Given the description of an element on the screen output the (x, y) to click on. 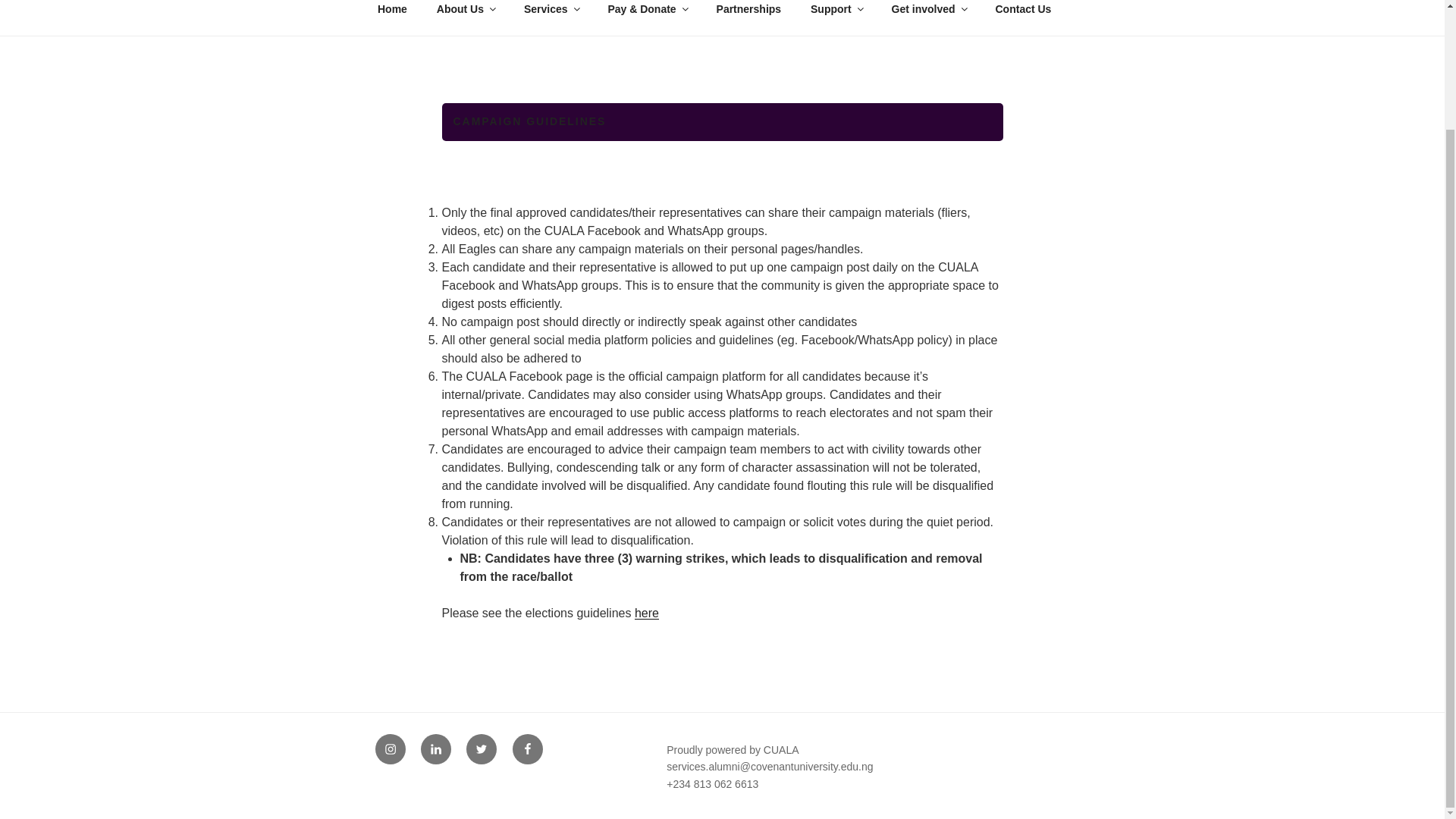
Support (836, 13)
About Us (464, 13)
Services (551, 13)
Home (392, 13)
Partnerships (748, 13)
